Given the description of an element on the screen output the (x, y) to click on. 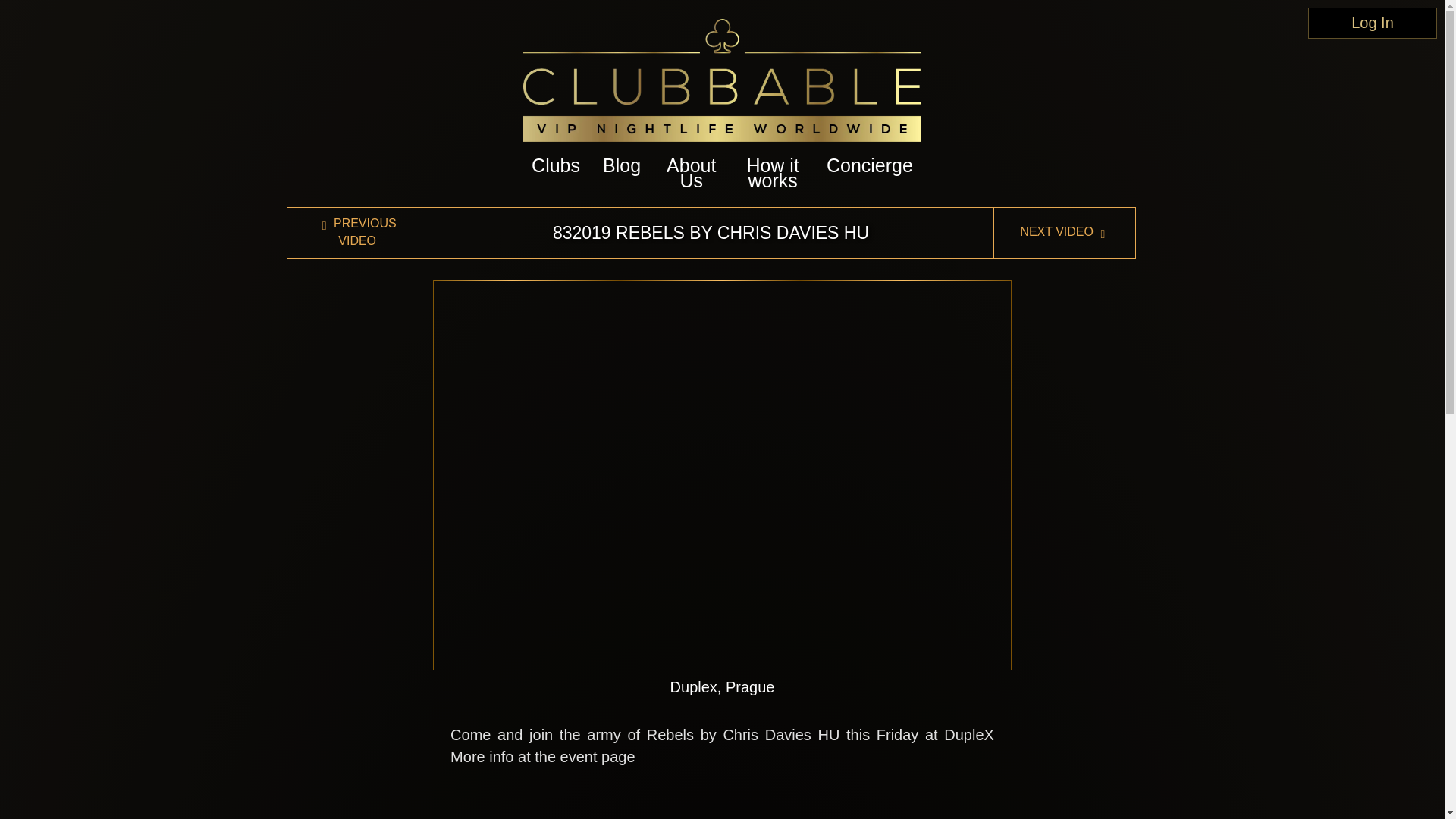
Logo (721, 79)
Clubs (555, 165)
NEXT VIDEO  (1064, 232)
Login (1372, 22)
Log In (1372, 22)
Concierge (869, 165)
How it works (772, 172)
About Us (691, 172)
Clubs (555, 165)
 PREVIOUS VIDEO (357, 232)
